Given the description of an element on the screen output the (x, y) to click on. 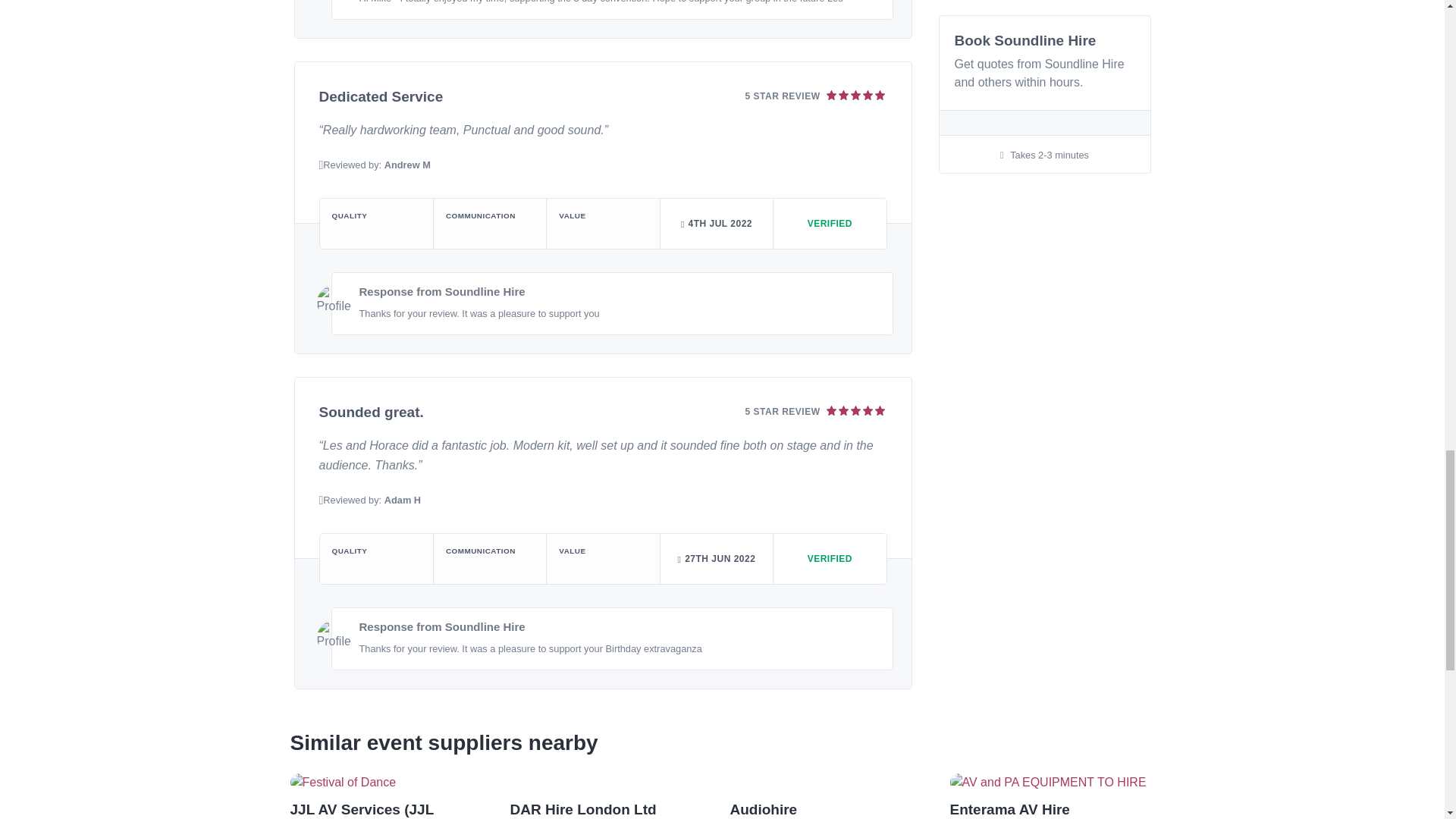
Enterama AV Hire (1008, 809)
Profile Image (333, 636)
Audiohire (762, 809)
Profile Image (333, 2)
DAR Hire London Ltd (582, 809)
Profile Image (333, 302)
